Given the description of an element on the screen output the (x, y) to click on. 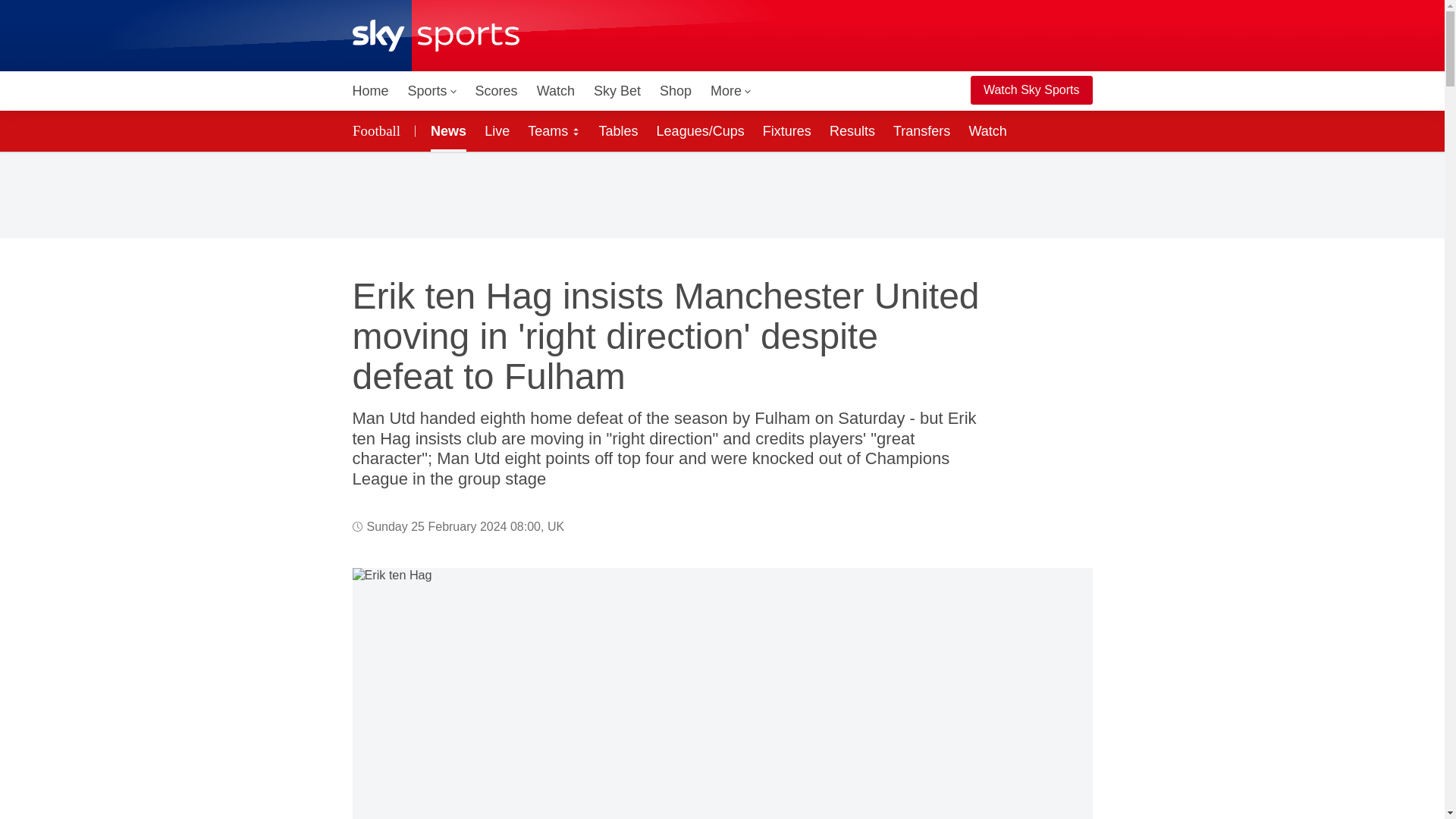
Watch Sky Sports (1032, 90)
Football (378, 130)
Home (369, 91)
Sky Bet (616, 91)
Sports (432, 91)
Watch (555, 91)
More (730, 91)
Scores (496, 91)
Shop (675, 91)
Live (497, 130)
